Given the description of an element on the screen output the (x, y) to click on. 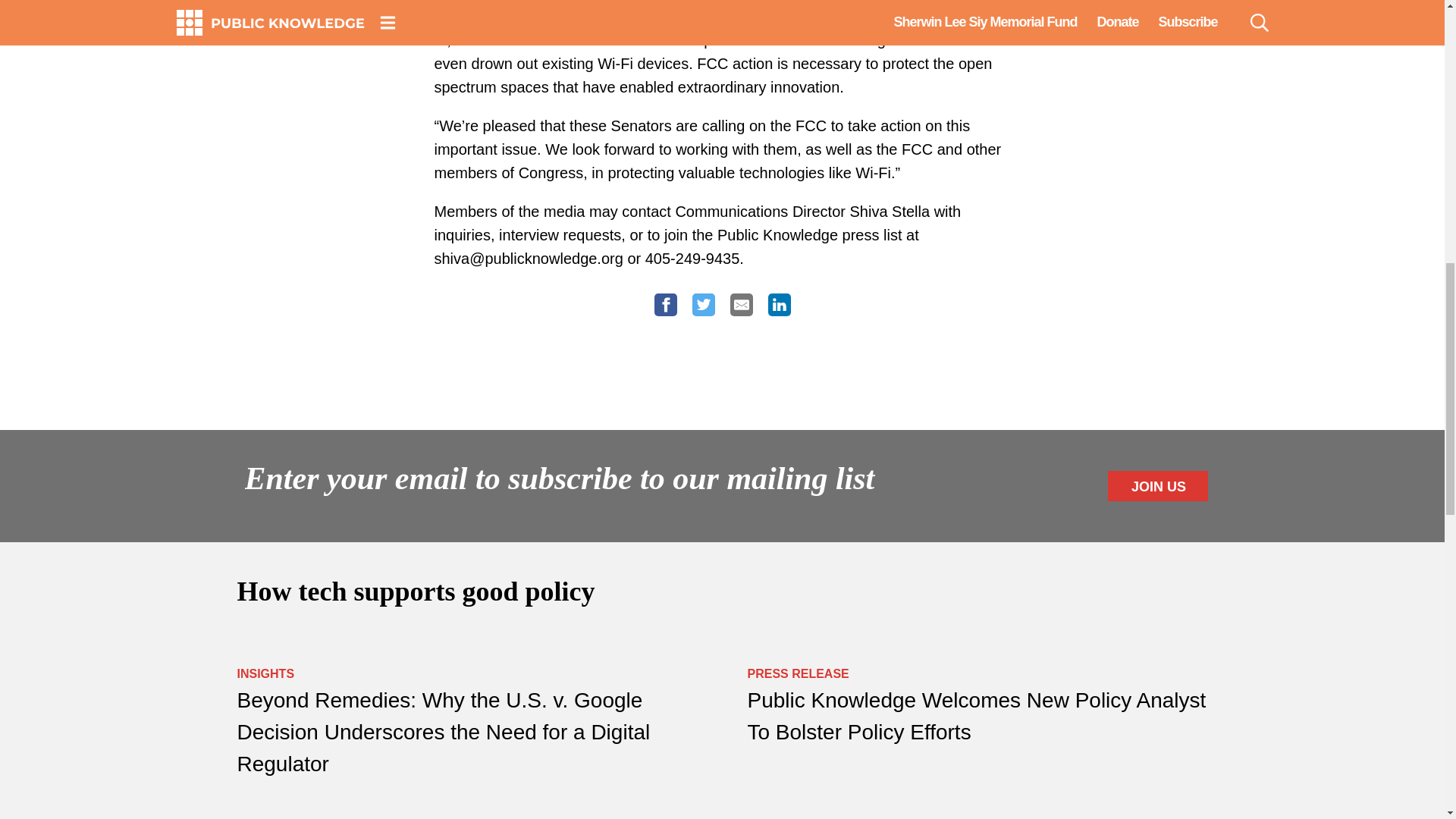
Join Us (1157, 485)
Join Us (1157, 485)
